Given the description of an element on the screen output the (x, y) to click on. 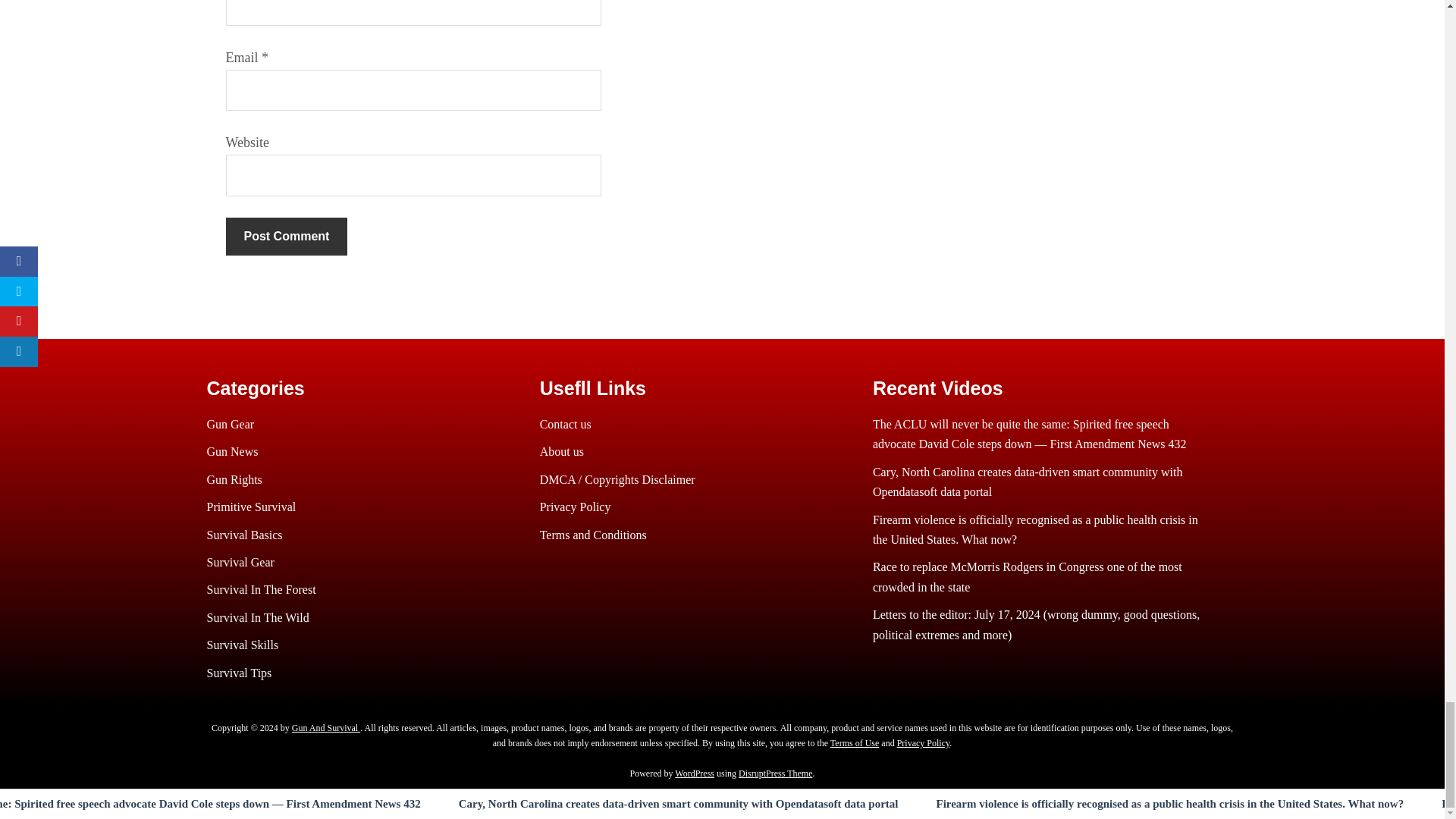
Post Comment (286, 236)
